Given the description of an element on the screen output the (x, y) to click on. 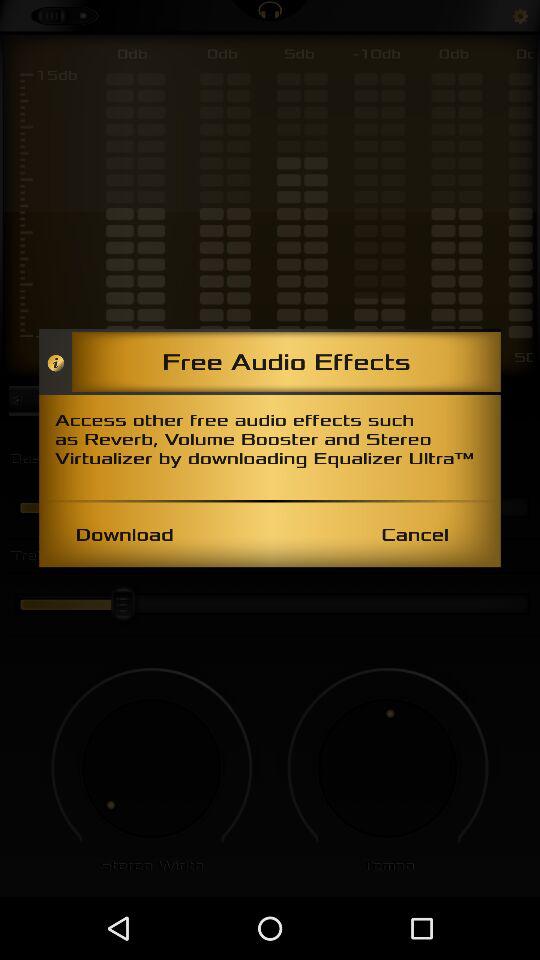
click the cancel item (414, 534)
